Given the description of an element on the screen output the (x, y) to click on. 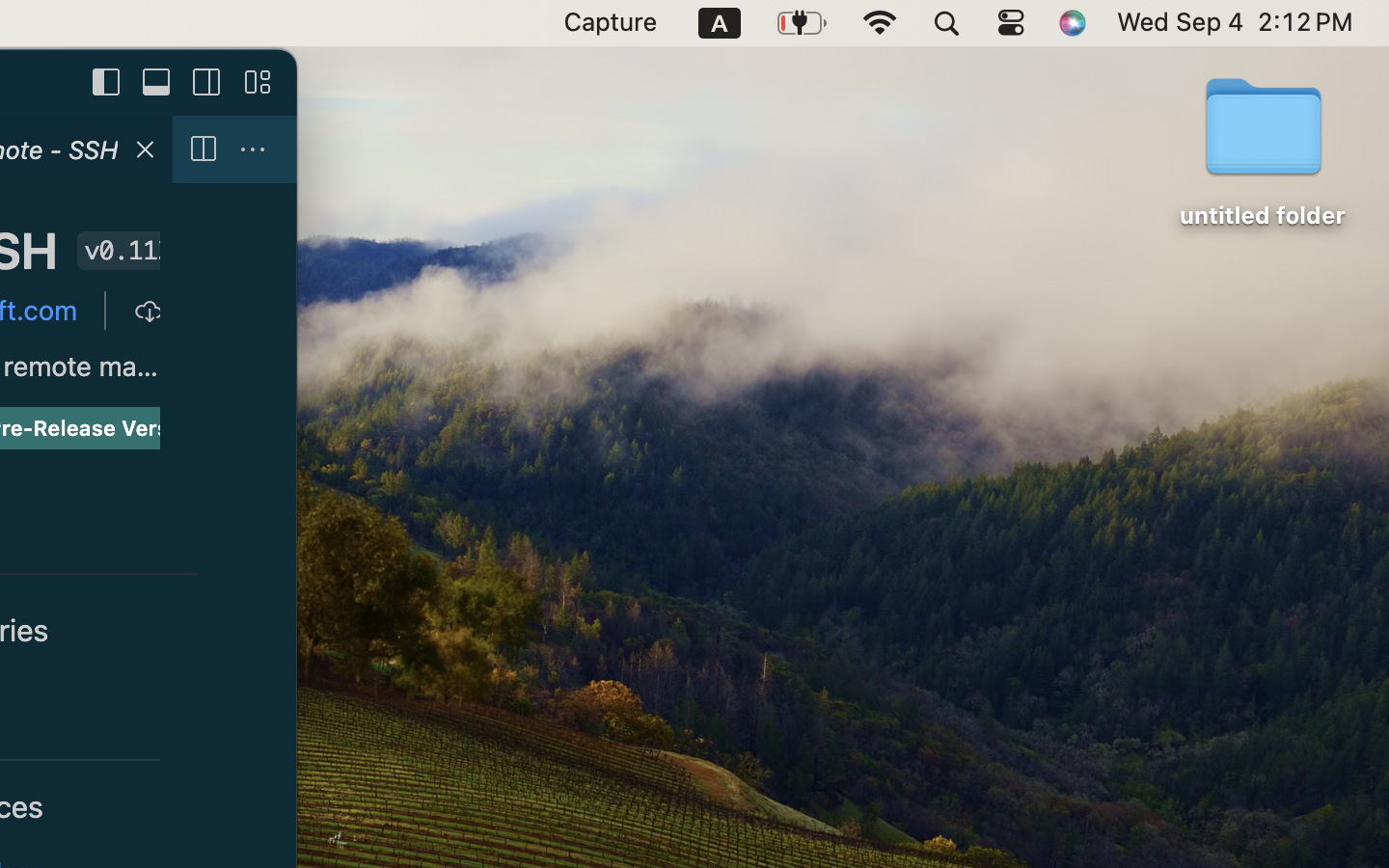
 Element type: AXCheckBox (207, 82)
 Element type: AXGroup (147, 310)
 Element type: AXButton (202, 150)
 Element type: AXCheckBox (157, 82)
 Element type: AXCheckBox (106, 82)
